Given the description of an element on the screen output the (x, y) to click on. 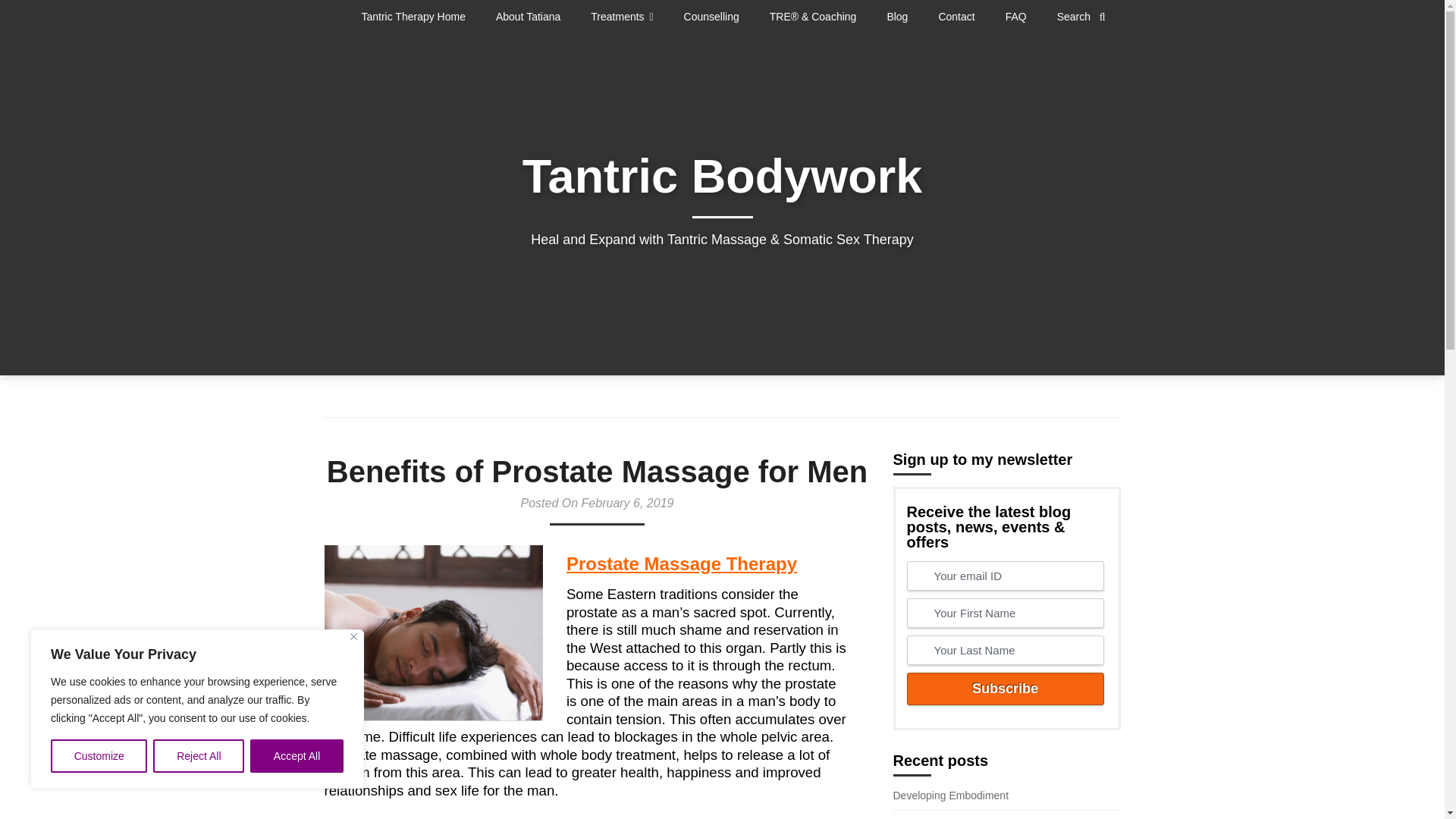
Your First Name (1005, 612)
Customize (98, 756)
FAQ (1016, 17)
Reject All (198, 756)
Your email ID (1005, 575)
About Tatiana (527, 17)
Contact (956, 17)
Your Last Name (1005, 650)
Tantric Therapy Home (420, 17)
Accept All (296, 756)
